Given the description of an element on the screen output the (x, y) to click on. 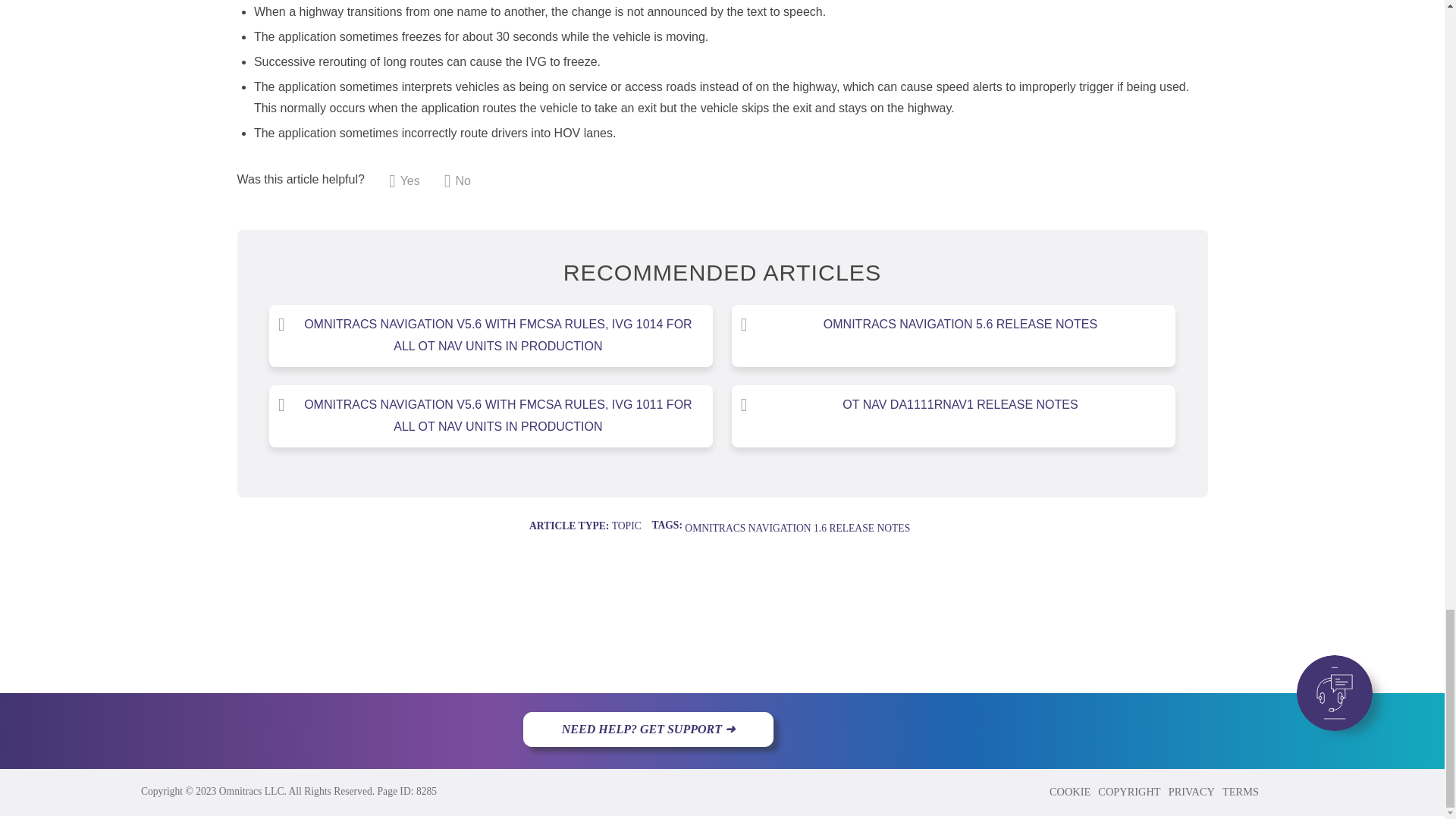
OMNITRACS NAVIGATION 5.6 RELEASE NOTES (953, 324)
OT NAV DA1111RNAV1 RELEASE NOTES (953, 404)
OMNITRACS NAVIGATION 1.6 RELEASE NOTES (797, 527)
Omnitracs Navigation 5.6 Release Notes (953, 324)
Yes (404, 180)
OT NAV DA1111RNAV1 RELEASE NOTES (953, 404)
No (457, 180)
TOPIC (626, 525)
